Given the description of an element on the screen output the (x, y) to click on. 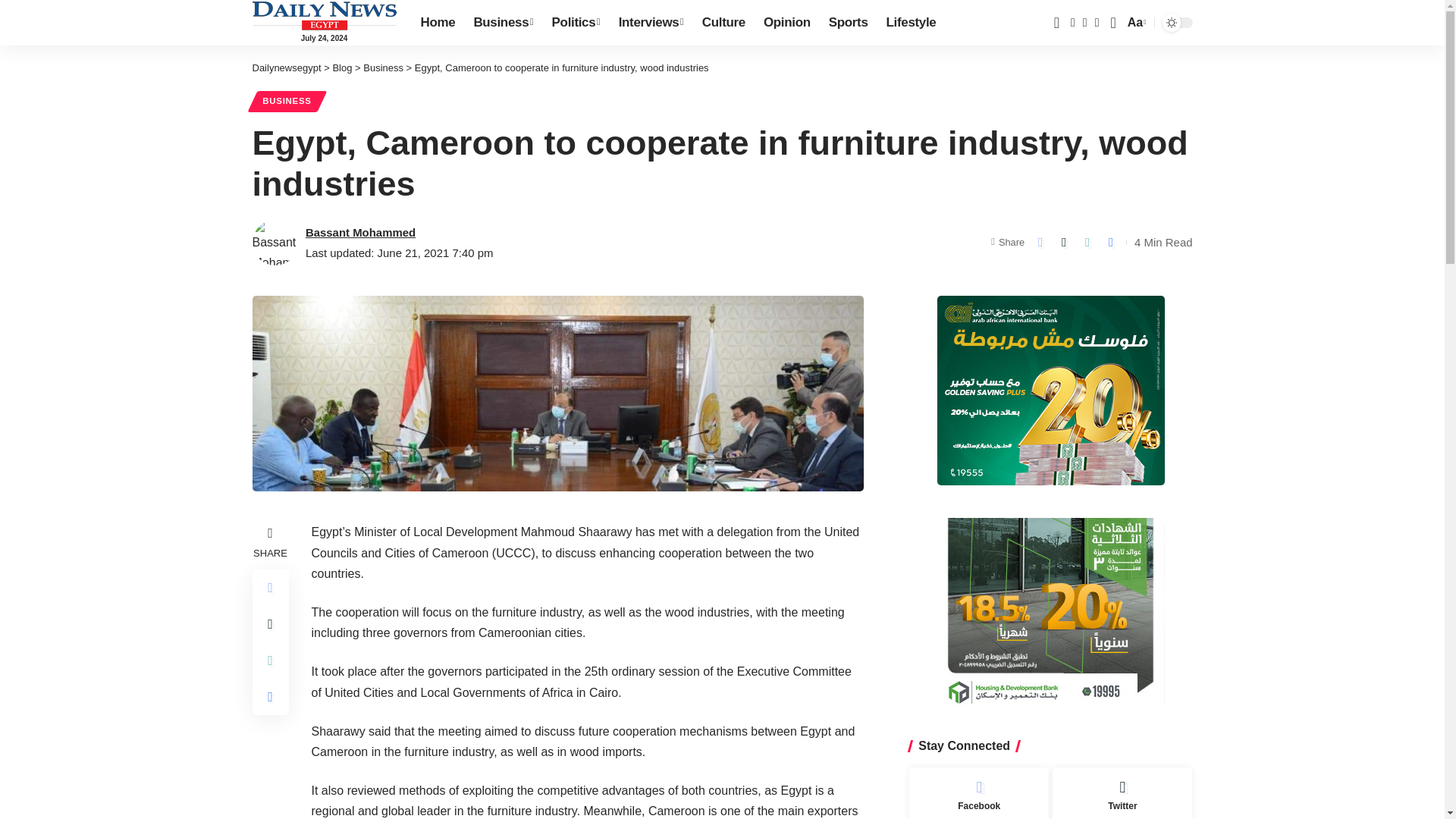
Culture (723, 22)
Interviews (651, 22)
Politics (576, 22)
Business (502, 22)
Home (437, 22)
Dailynewsegypt (323, 15)
Opinion (786, 22)
